Given the description of an element on the screen output the (x, y) to click on. 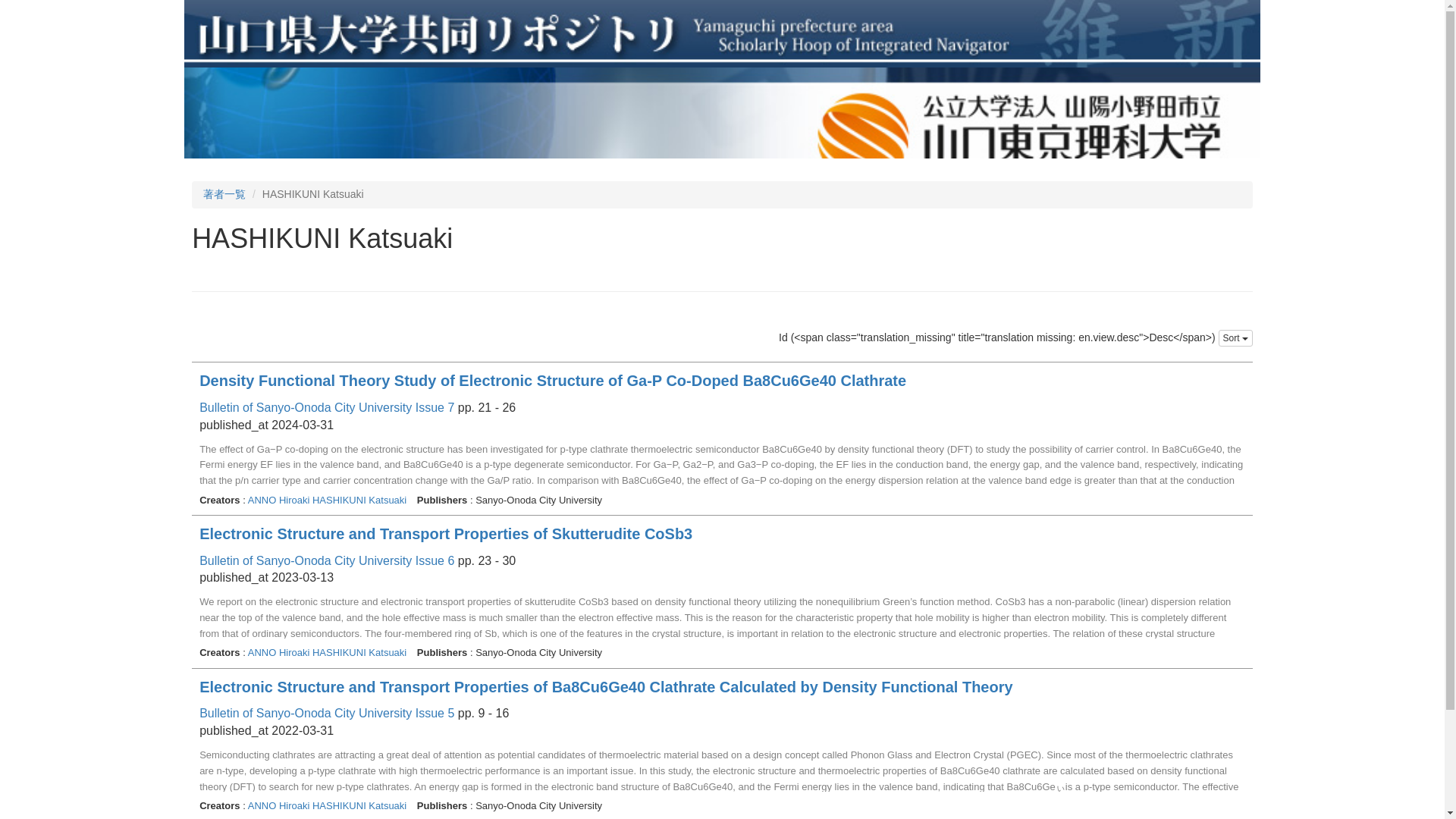
HASHIKUNI Katsuaki (361, 652)
Bulletin of Sanyo-Onoda City University Issue 6 (326, 560)
ANNO Hiroaki (278, 805)
Bulletin of Sanyo-Onoda City University Issue 7 (326, 407)
HASHIKUNI Katsuaki (361, 805)
ANNO Hiroaki (278, 652)
